Given the description of an element on the screen output the (x, y) to click on. 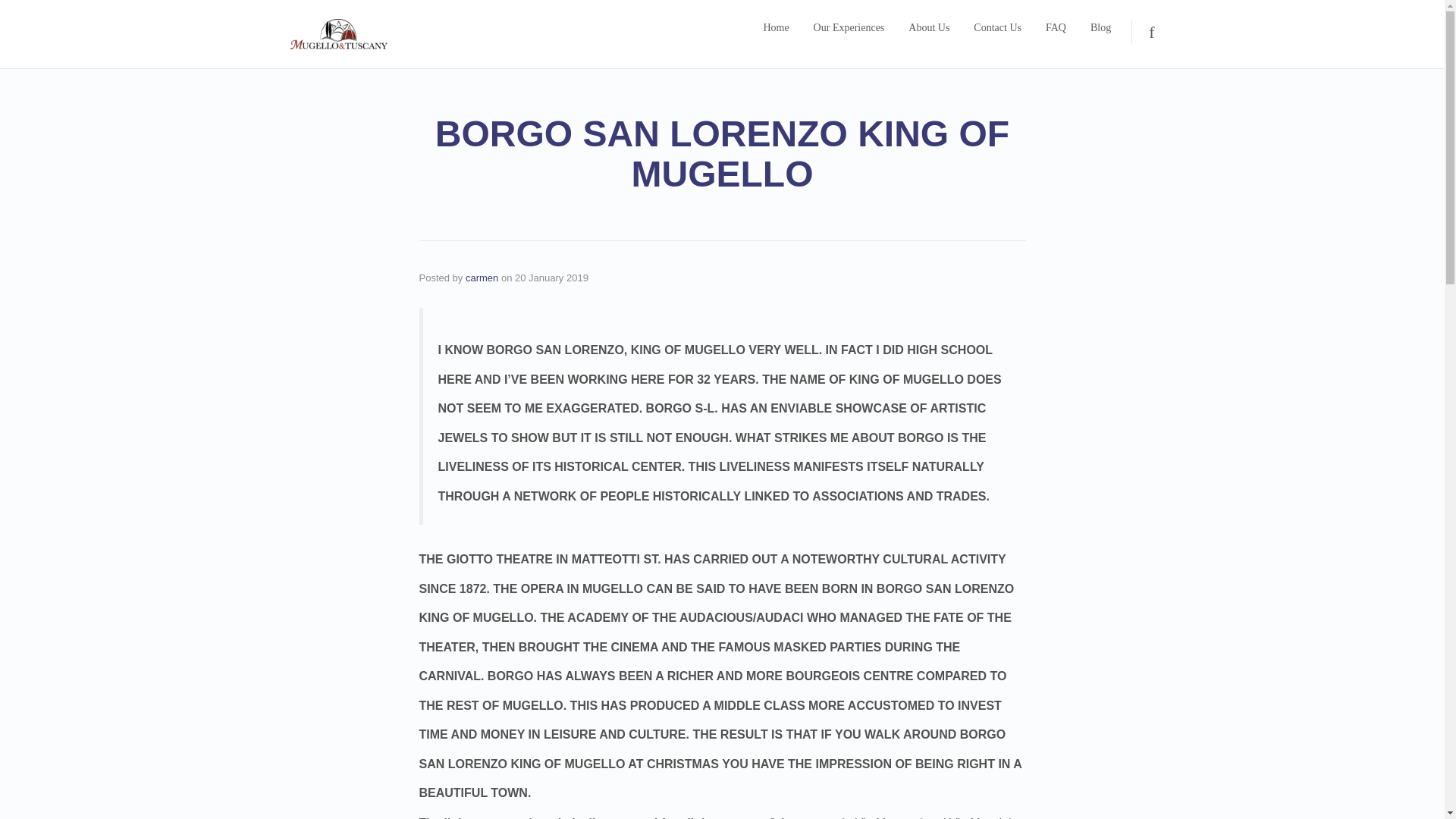
About Us (928, 27)
Contact Us (998, 27)
Posts by carmen (481, 277)
carmen (481, 277)
Our Experiences (849, 27)
